Given the description of an element on the screen output the (x, y) to click on. 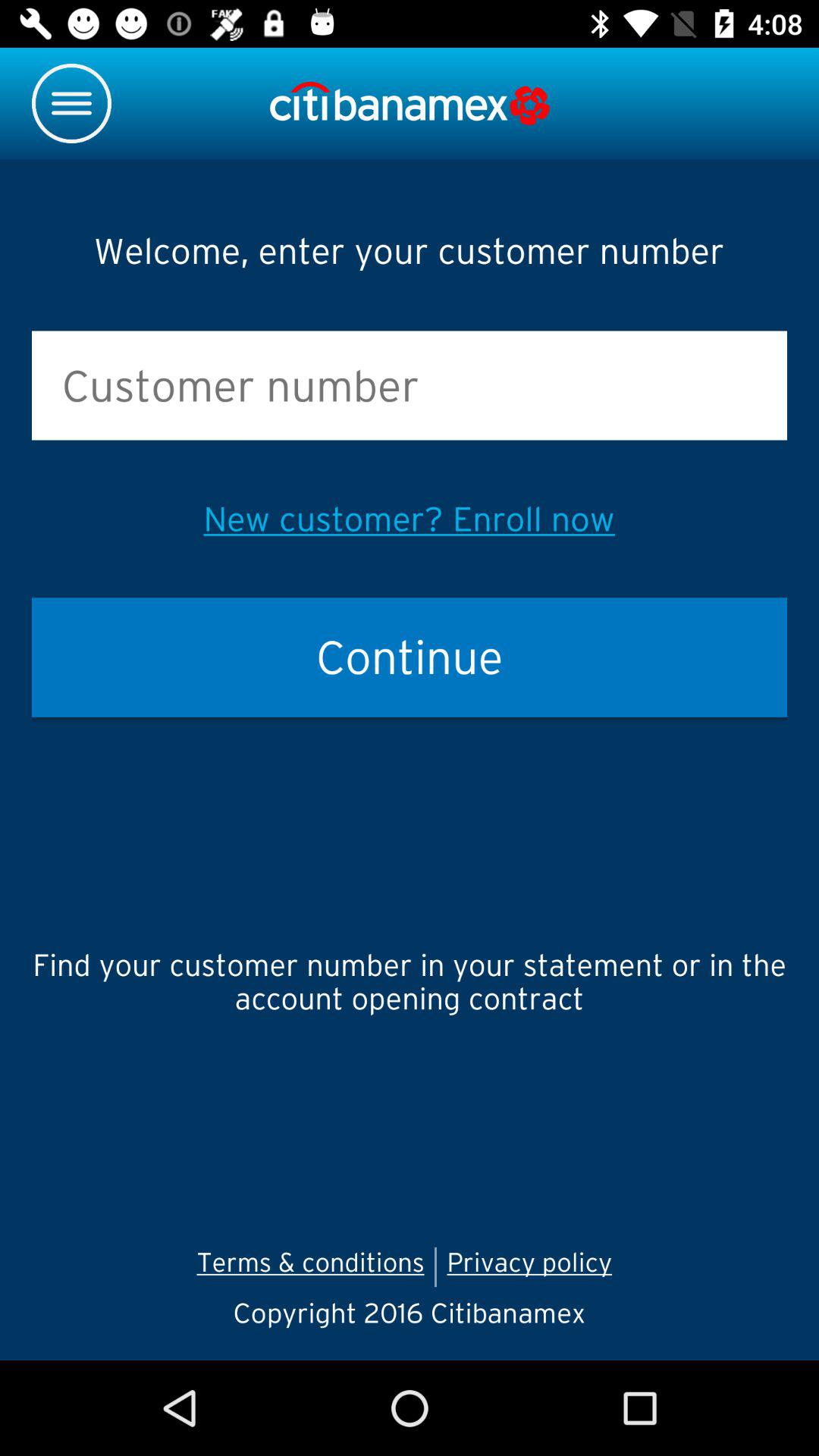
click the customer number field (409, 386)
